Given the description of an element on the screen output the (x, y) to click on. 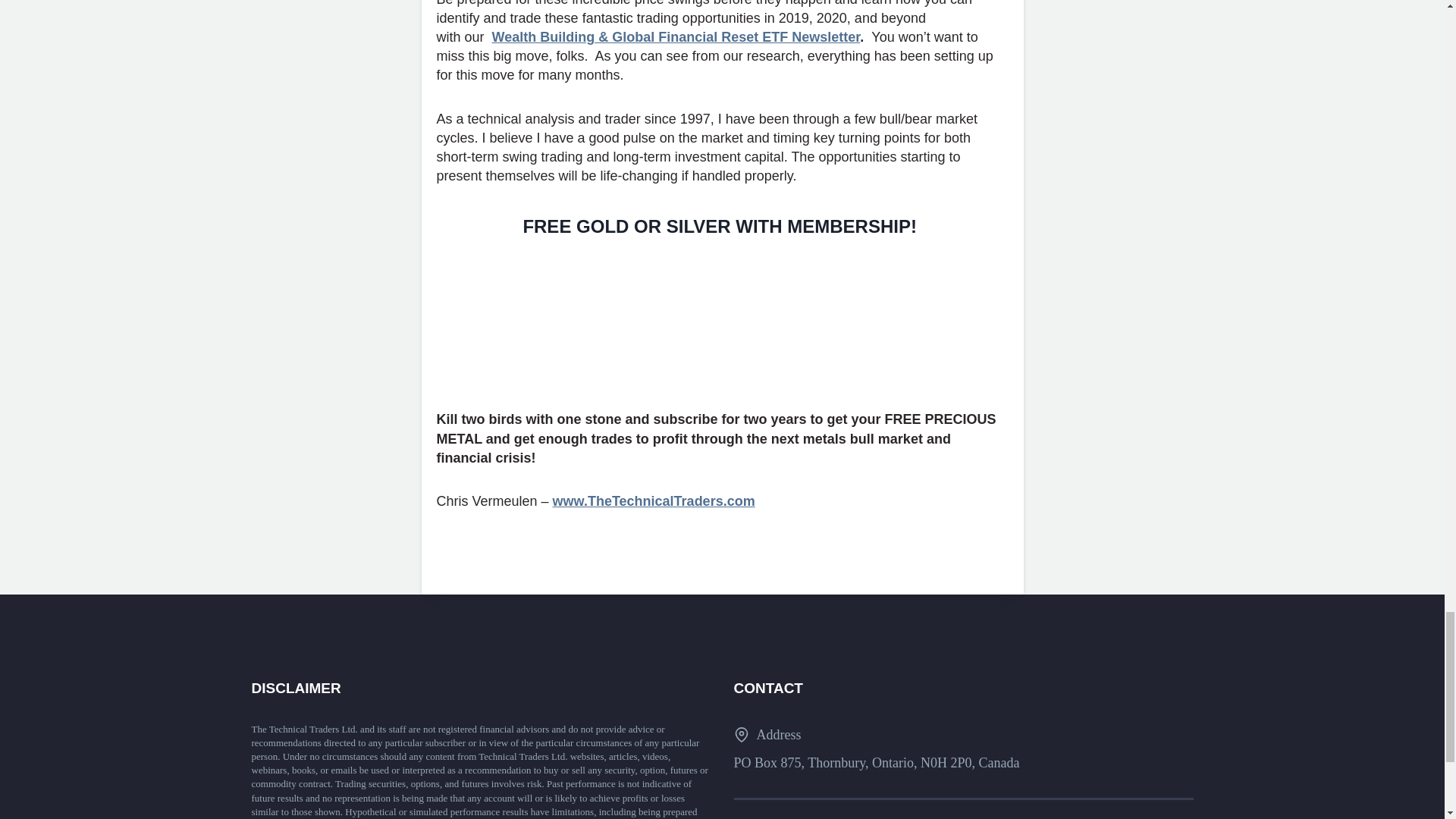
www.TheTechnicalTraders.com (654, 500)
